Given the description of an element on the screen output the (x, y) to click on. 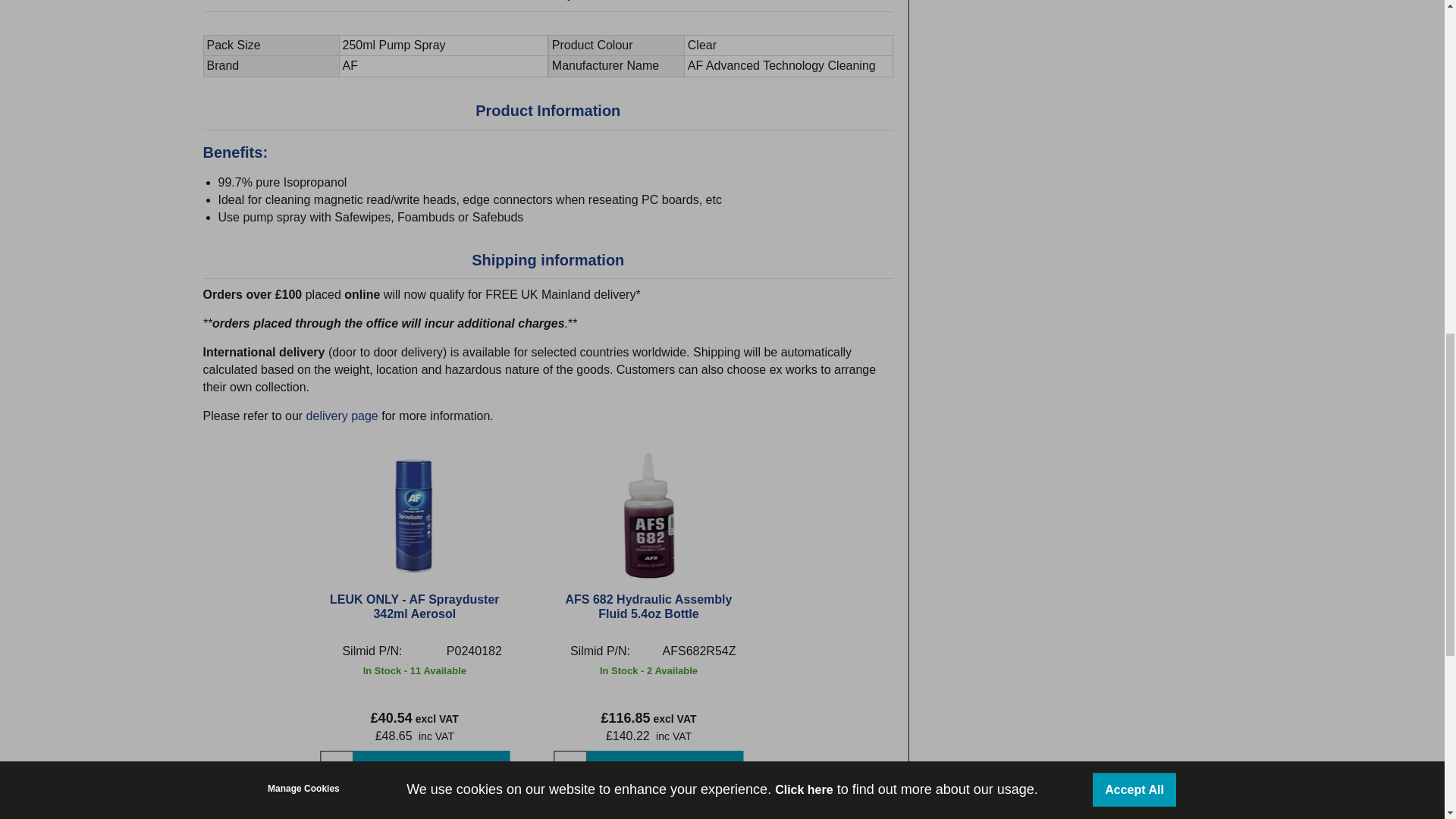
Add To Basket (431, 767)
Add To Basket (664, 767)
1 (336, 767)
1 (569, 767)
